Given the description of an element on the screen output the (x, y) to click on. 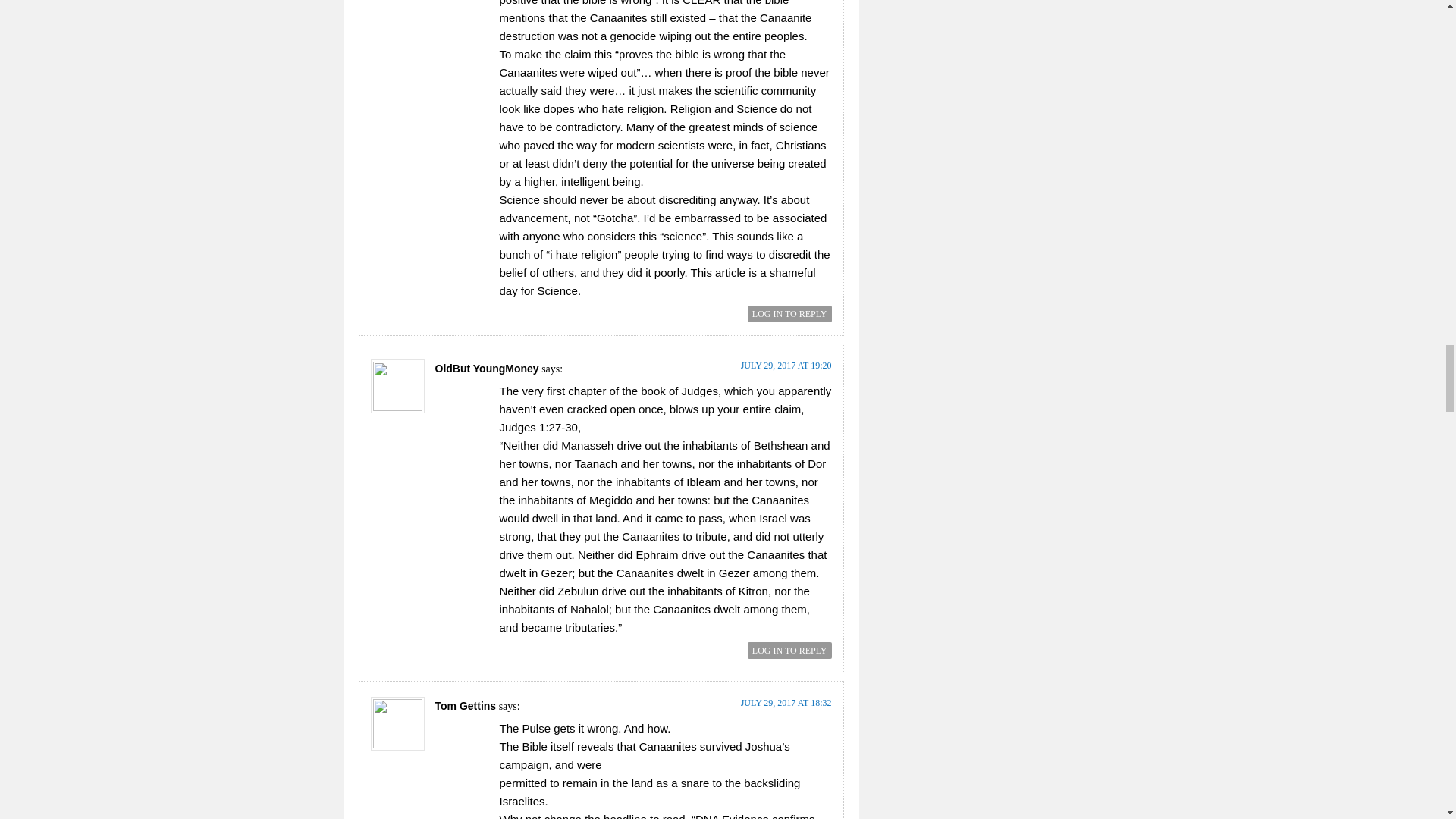
LOG IN TO REPLY (789, 650)
LOG IN TO REPLY (789, 313)
JULY 29, 2017 AT 18:32 (786, 702)
JULY 29, 2017 AT 19:20 (786, 365)
